Given the description of an element on the screen output the (x, y) to click on. 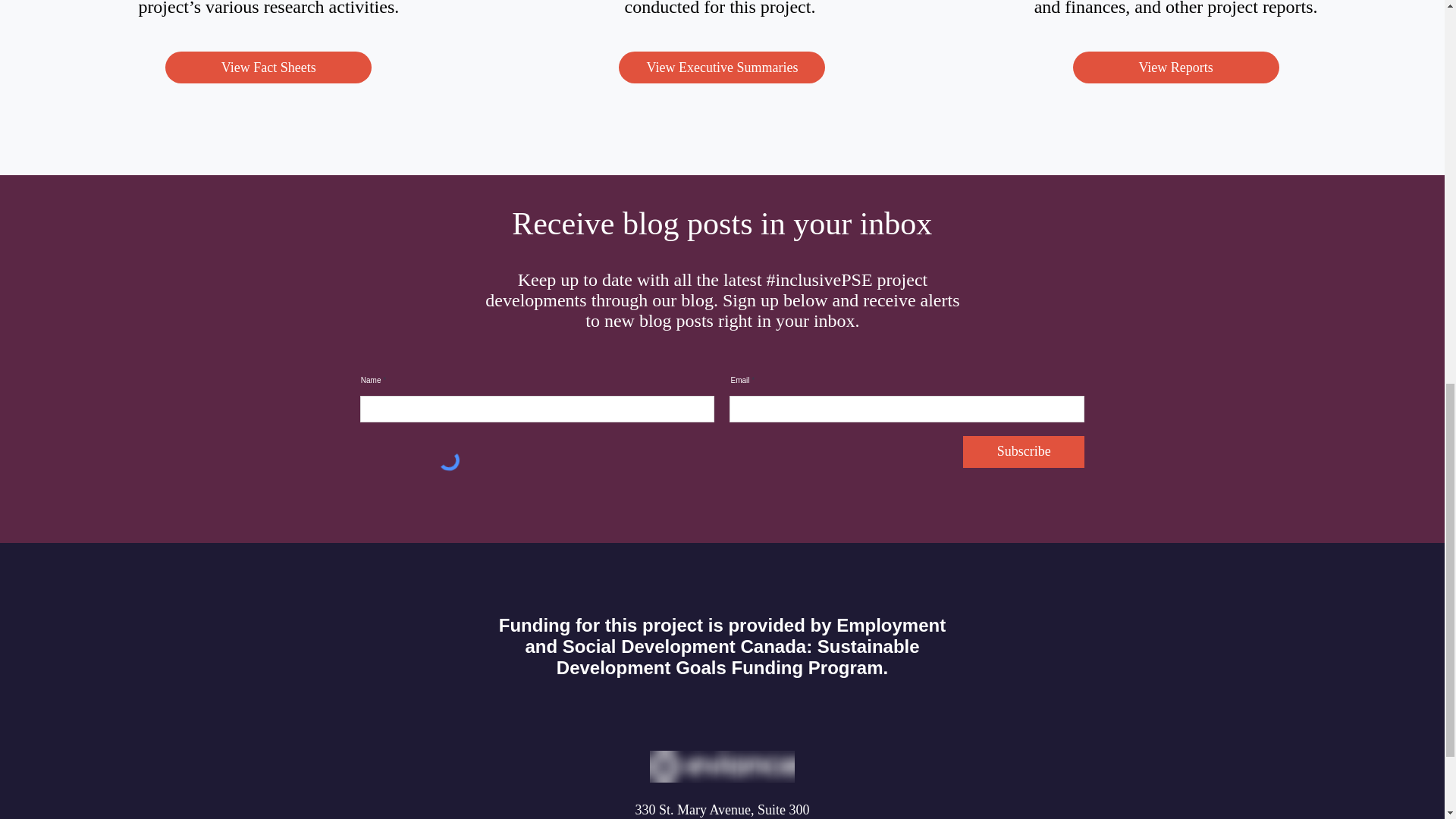
View Reports (1176, 67)
Subscribe (1023, 451)
View Fact Sheets (268, 67)
View Executive Summaries (721, 67)
